Given the description of an element on the screen output the (x, y) to click on. 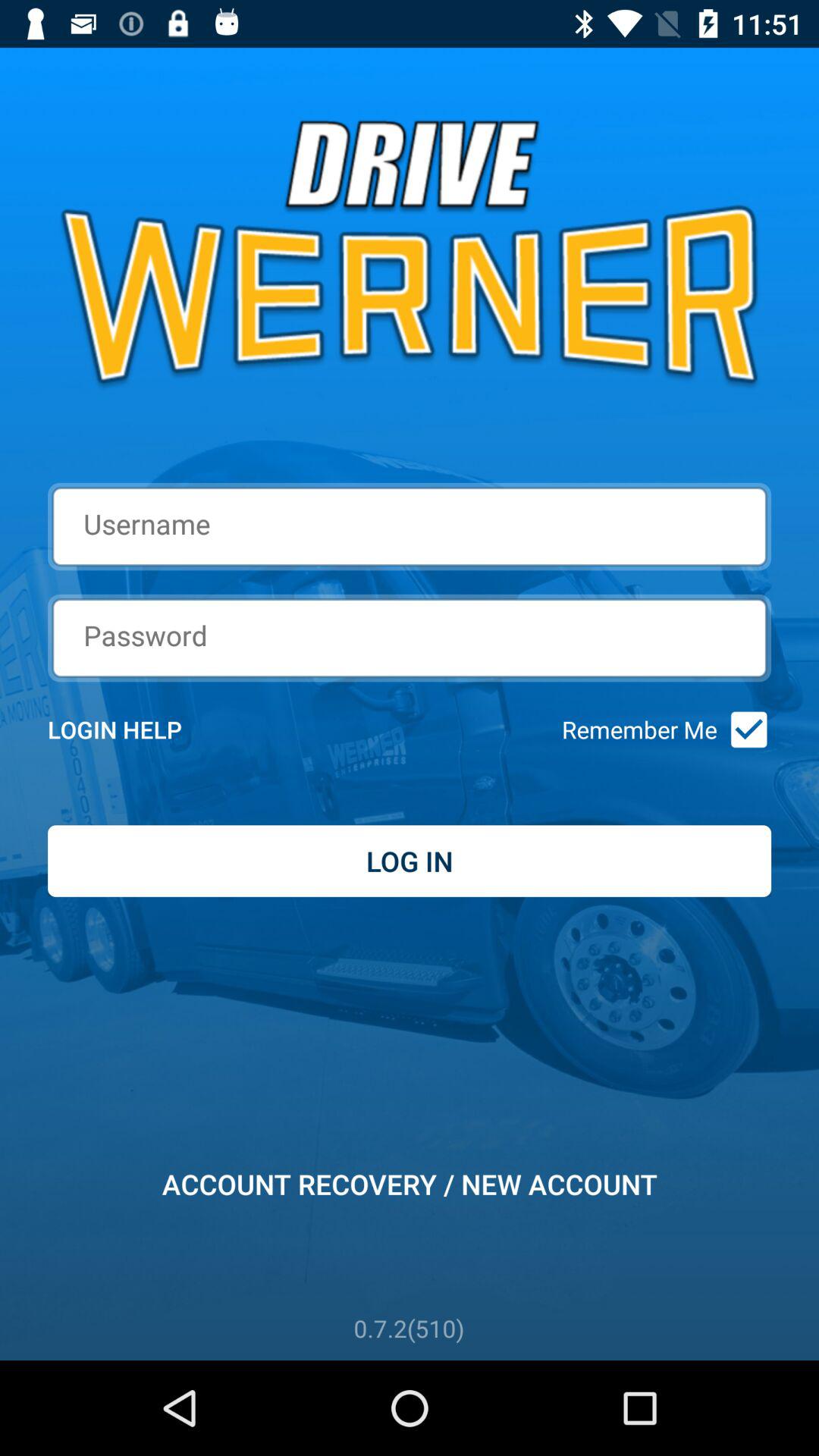
jump until the log in icon (409, 860)
